Given the description of an element on the screen output the (x, y) to click on. 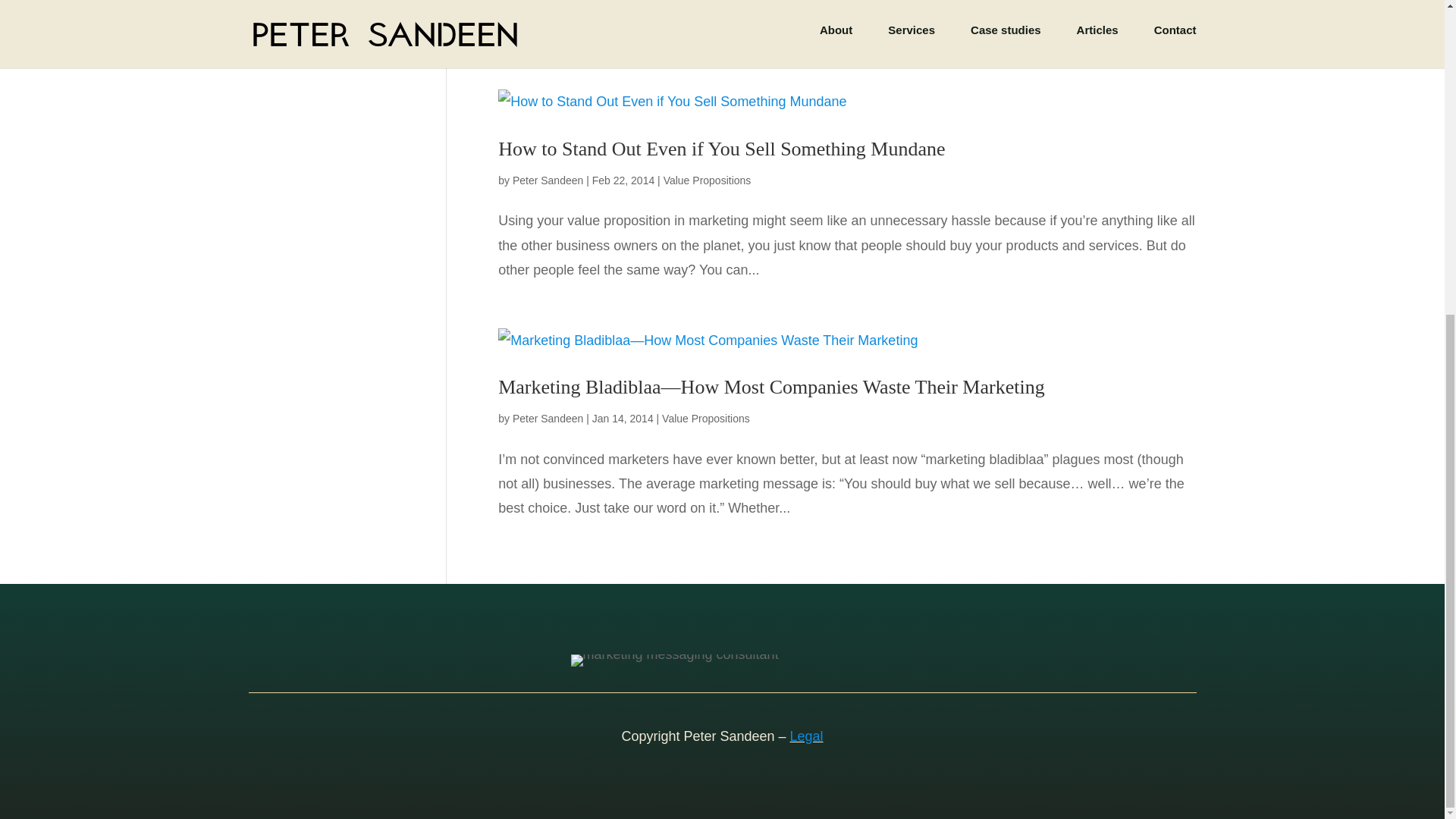
Legal (807, 735)
Posts by Peter Sandeen (547, 180)
Value Propositions (707, 180)
logo-only-name-white (673, 660)
Value Propositions (705, 418)
Peter Sandeen (547, 418)
Peter Sandeen (547, 180)
How to Stand Out Even if You Sell Something Mundane (720, 148)
Posts by Peter Sandeen (547, 418)
